Given the description of an element on the screen output the (x, y) to click on. 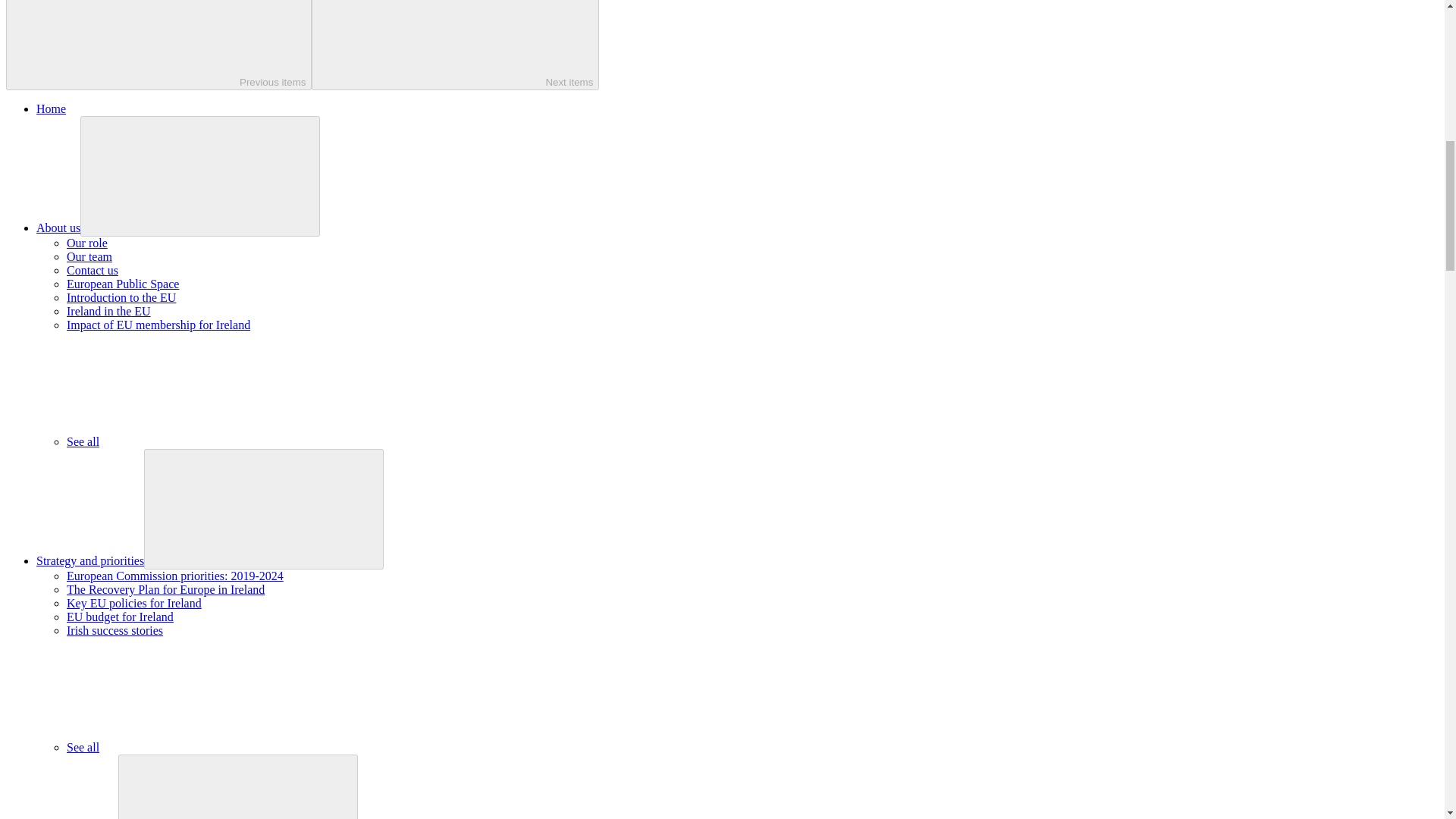
EU budget for Ireland (119, 616)
Our team (89, 256)
European Public Space (122, 283)
Irish success stories (114, 630)
European Commission priorities: 2019-2024 (174, 575)
Impact of EU membership for Ireland (158, 324)
Contact us (91, 269)
Introduction to the EU (121, 297)
Next items (454, 45)
See all (196, 747)
See all (196, 440)
Previous items (158, 45)
Our role (86, 242)
Key EU policies for Ireland (134, 603)
Ireland in the EU (108, 310)
